Given the description of an element on the screen output the (x, y) to click on. 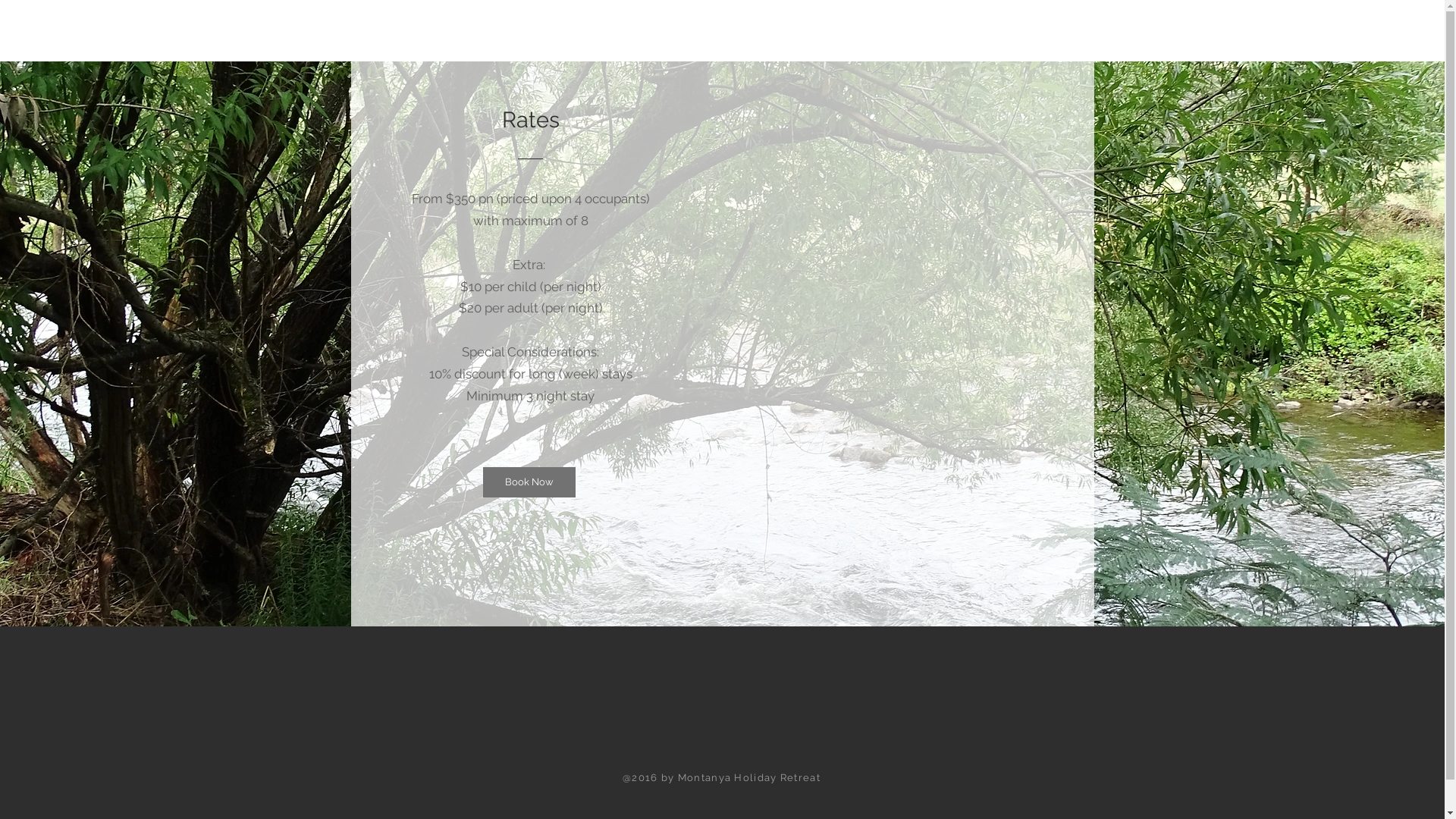
Book Now Element type: text (528, 482)
